Given the description of an element on the screen output the (x, y) to click on. 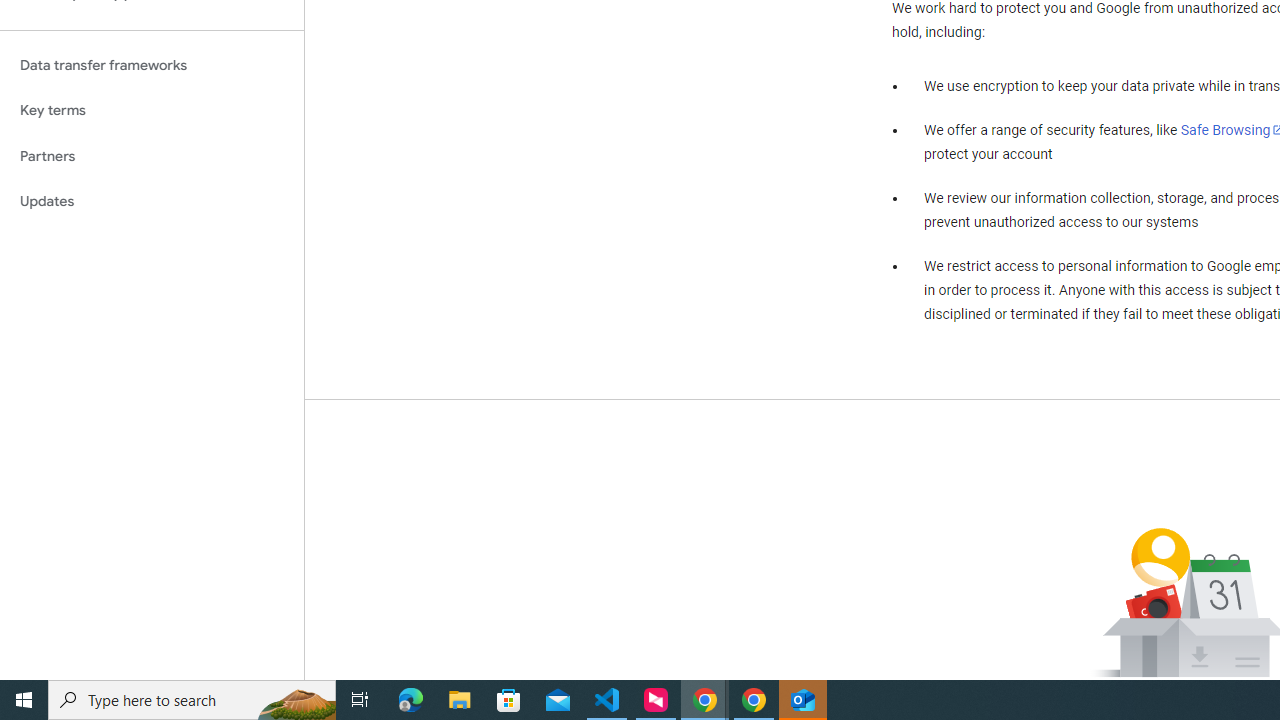
Updates (152, 201)
Partners (152, 156)
Data transfer frameworks (152, 65)
Key terms (152, 110)
